Given the description of an element on the screen output the (x, y) to click on. 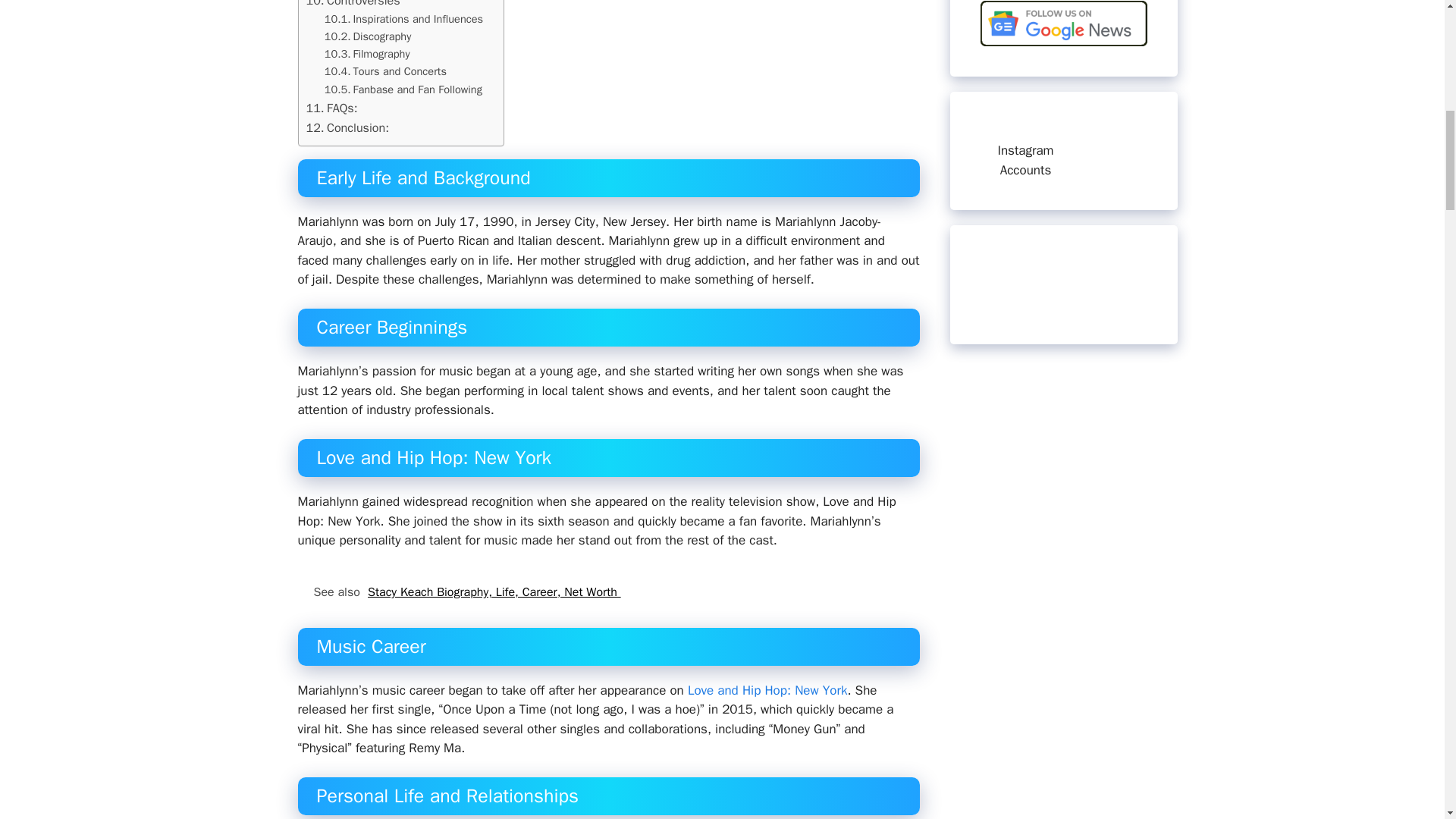
Tours and Concerts (385, 71)
FAQs: (331, 107)
Filmography (367, 54)
Love and Hip Hop: New York (767, 690)
Conclusion: (347, 127)
Controversies (352, 5)
Inspirations and Influences (403, 18)
Discography (368, 36)
Controversies (352, 5)
Fanbase and Fan Following (402, 89)
